Given the description of an element on the screen output the (x, y) to click on. 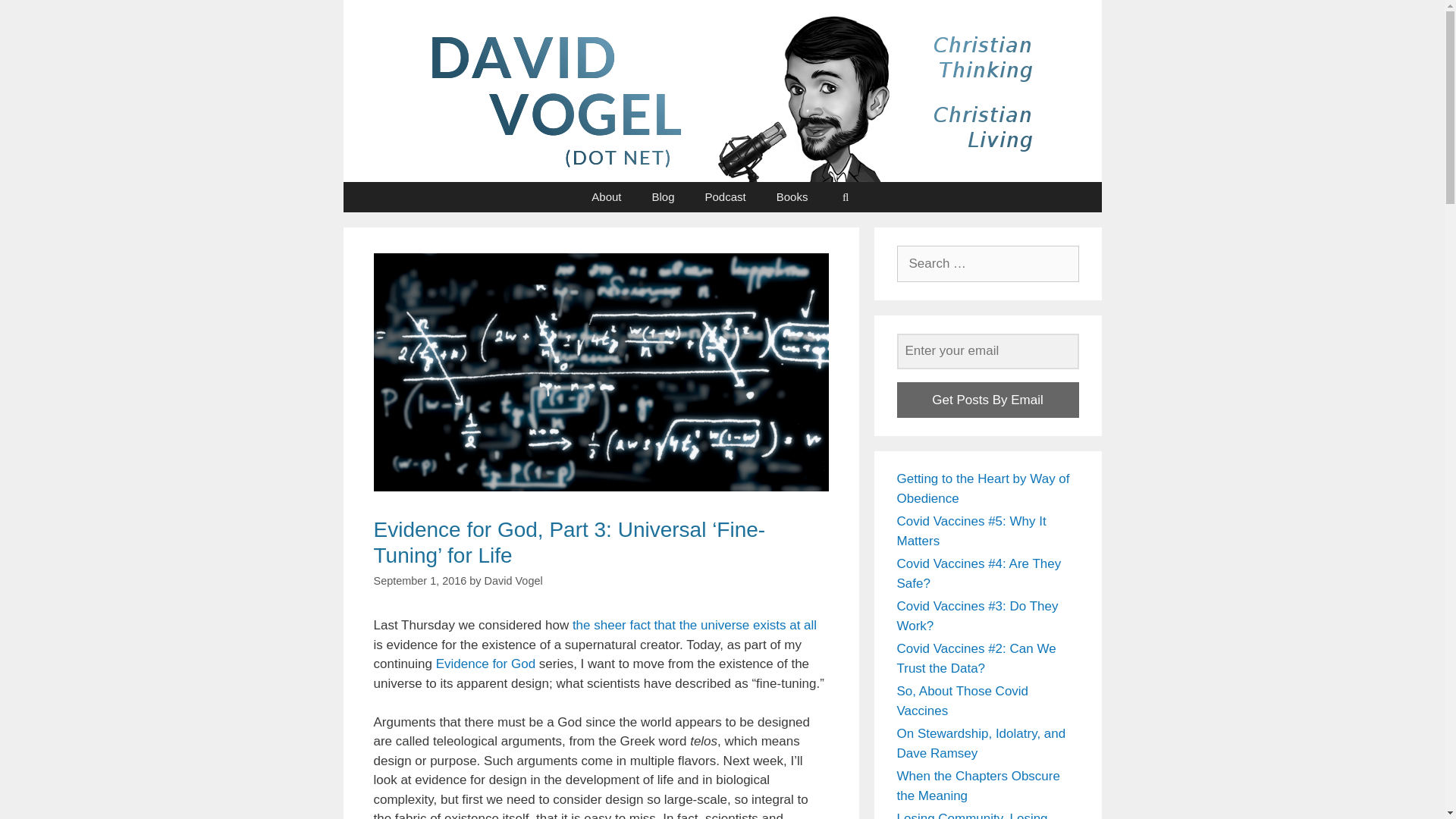
Search for: (987, 263)
Search (36, 18)
Podcast (725, 196)
About (606, 196)
Get Posts By Email (987, 400)
When the Chapters Obscure the Meaning (977, 786)
Blog (662, 196)
David Vogel (513, 580)
the sheer fact that the universe exists at all (694, 625)
Books (792, 196)
Evidence for God (485, 663)
So, About Those Covid Vaccines (961, 700)
Getting to the Heart by Way of Obedience (982, 488)
View all posts by David Vogel (513, 580)
Losing Community, Losing Wisdom (971, 815)
